Given the description of an element on the screen output the (x, y) to click on. 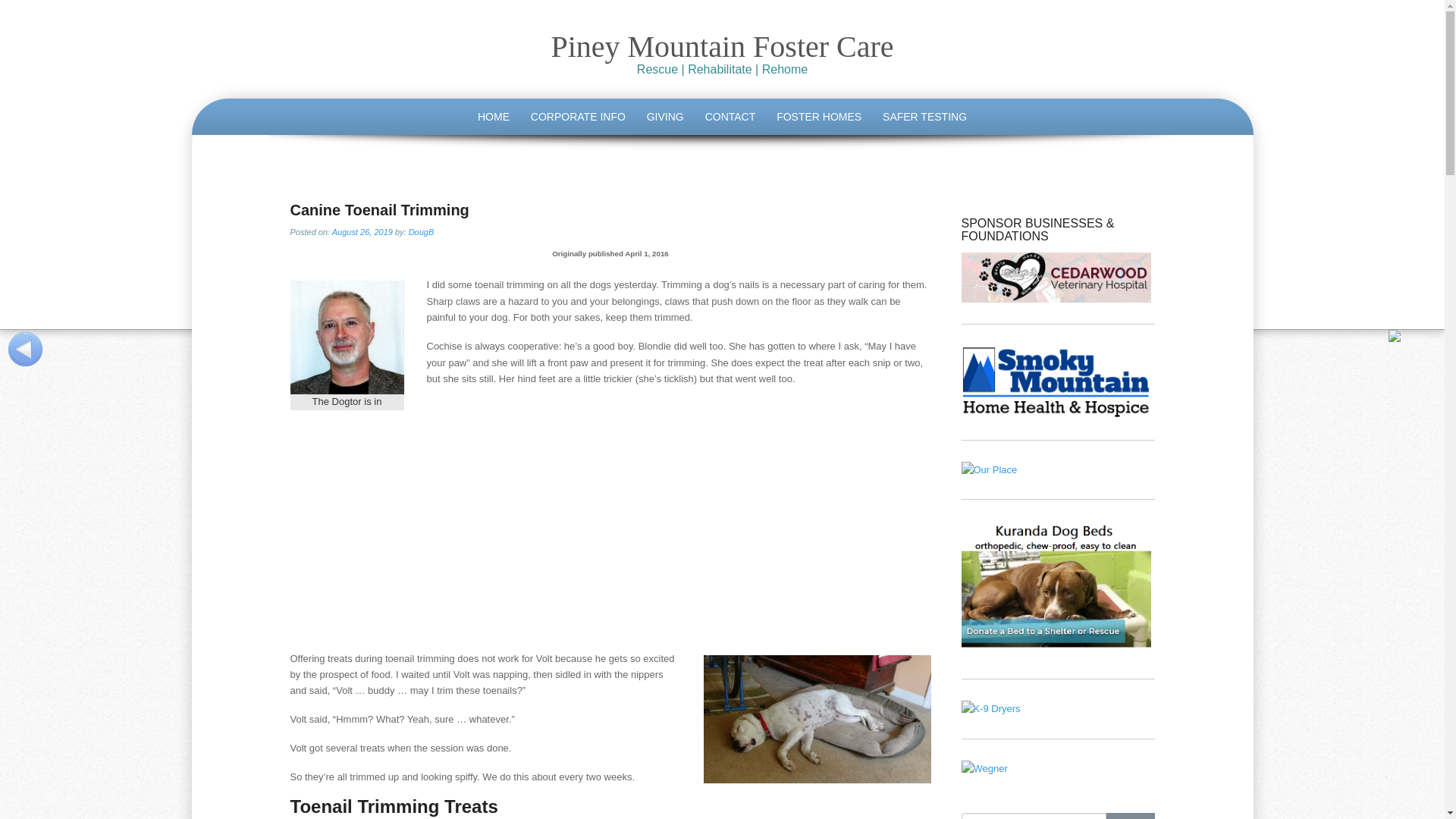
Piney Mountain Foster Care (721, 46)
Piney Mountain Foster Care (721, 46)
SKIP TO CONTENT (293, 101)
CONTACT (730, 116)
DougB (421, 231)
SAFER TESTING (924, 116)
FOSTER HOMES (818, 116)
GIVING (665, 116)
HOME (493, 116)
August 26, 2019 (362, 231)
